Given the description of an element on the screen output the (x, y) to click on. 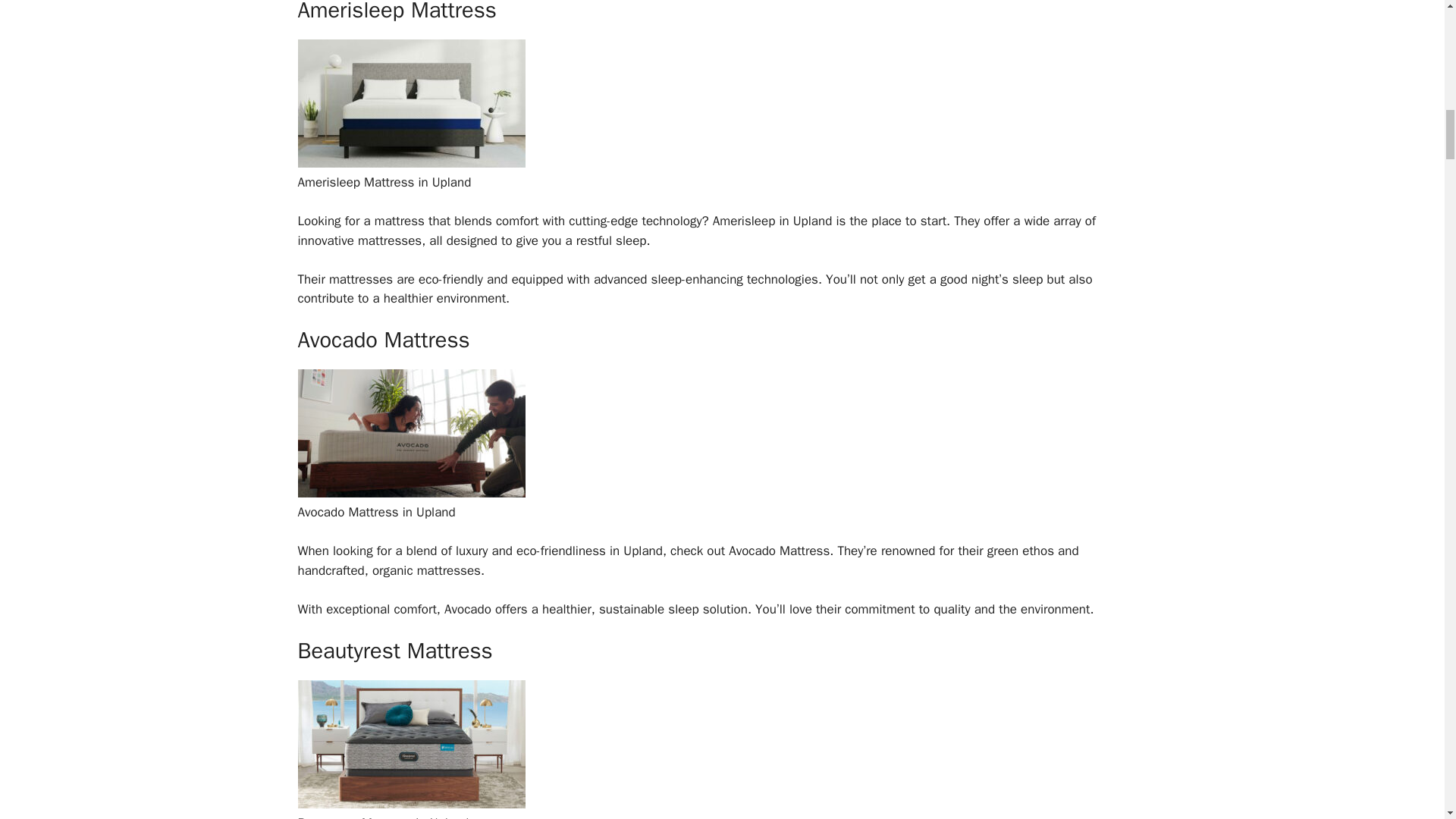
Beautyrest Mattress Upland (410, 804)
Amerisleep Mattress Upland (410, 163)
Avocado Mattress Upland (410, 493)
